Given the description of an element on the screen output the (x, y) to click on. 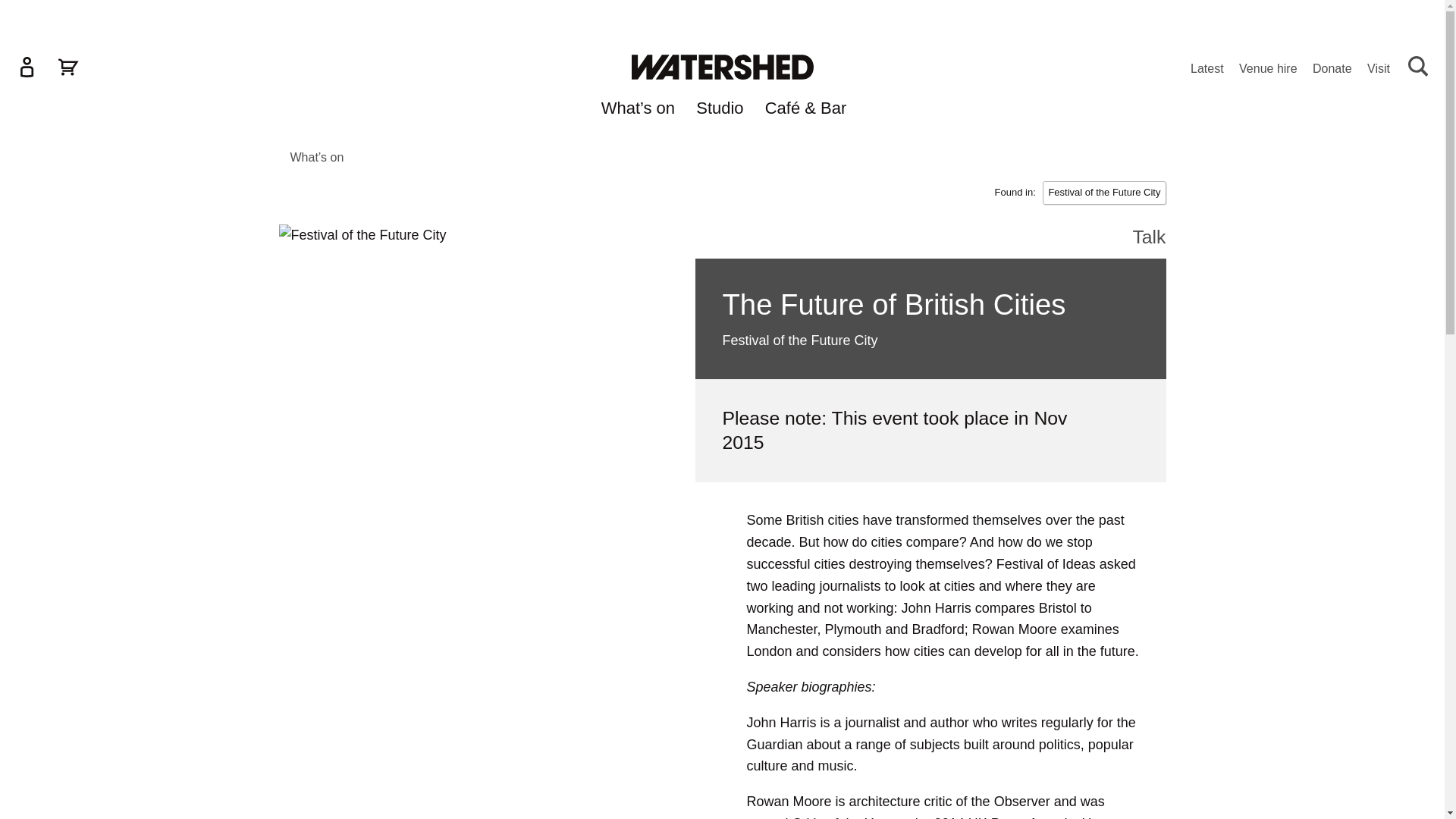
Donate (1332, 69)
Festival of the Future City (1104, 192)
Latest (1207, 69)
Studio (718, 110)
Account (26, 66)
Venue hire (1268, 69)
Watershed (721, 66)
Visit (1378, 69)
Search (1417, 66)
